Given the description of an element on the screen output the (x, y) to click on. 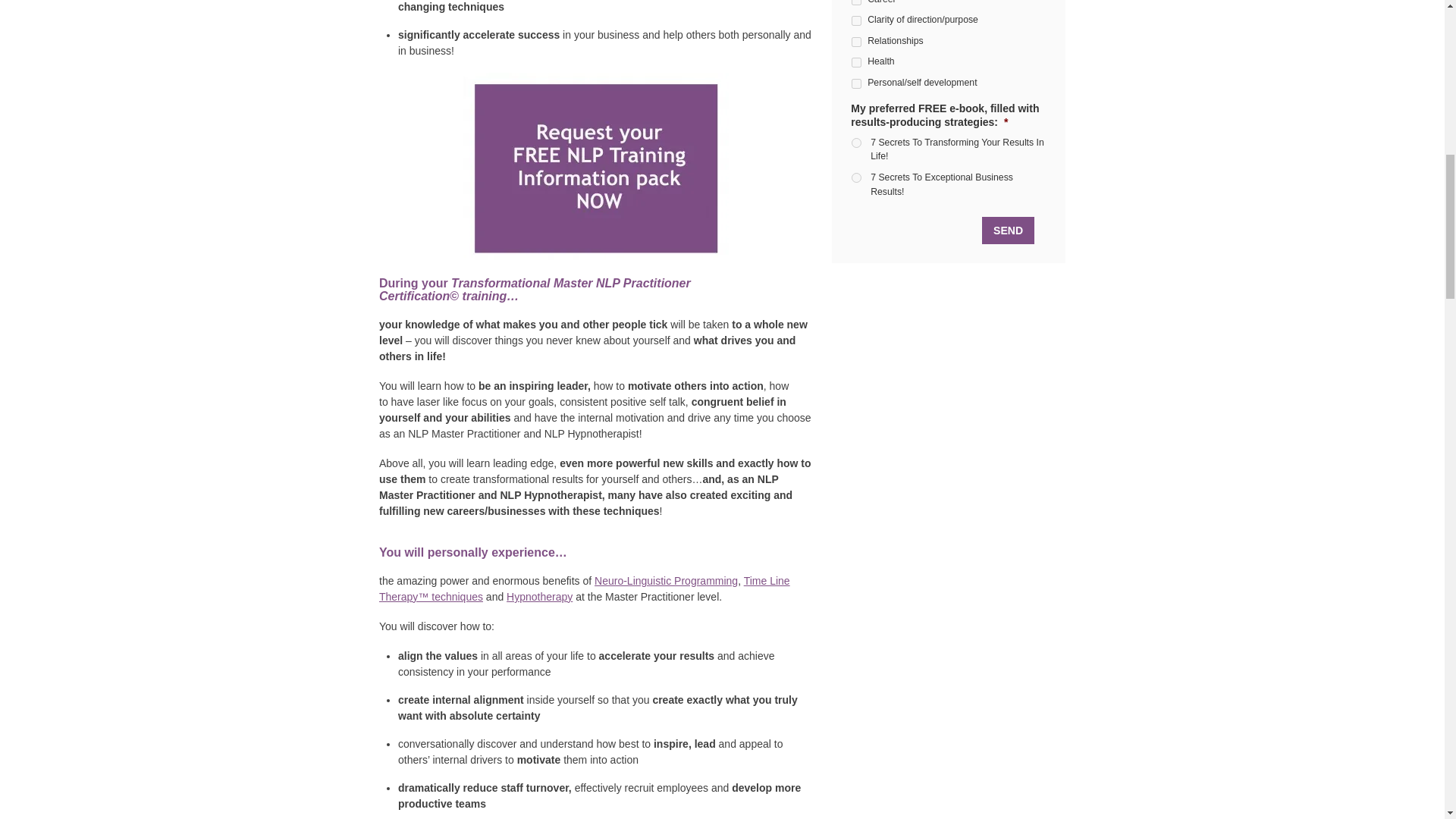
Health (856, 62)
Relationships (856, 41)
Neuro-Linguistic Programming (666, 580)
7 Secrets To Transforming Your Results In Life! (856, 143)
Hypnotherapy (539, 596)
Send (1007, 230)
Career (856, 2)
7 Secrets To Exceptional Business Results! (856, 177)
